Given the description of an element on the screen output the (x, y) to click on. 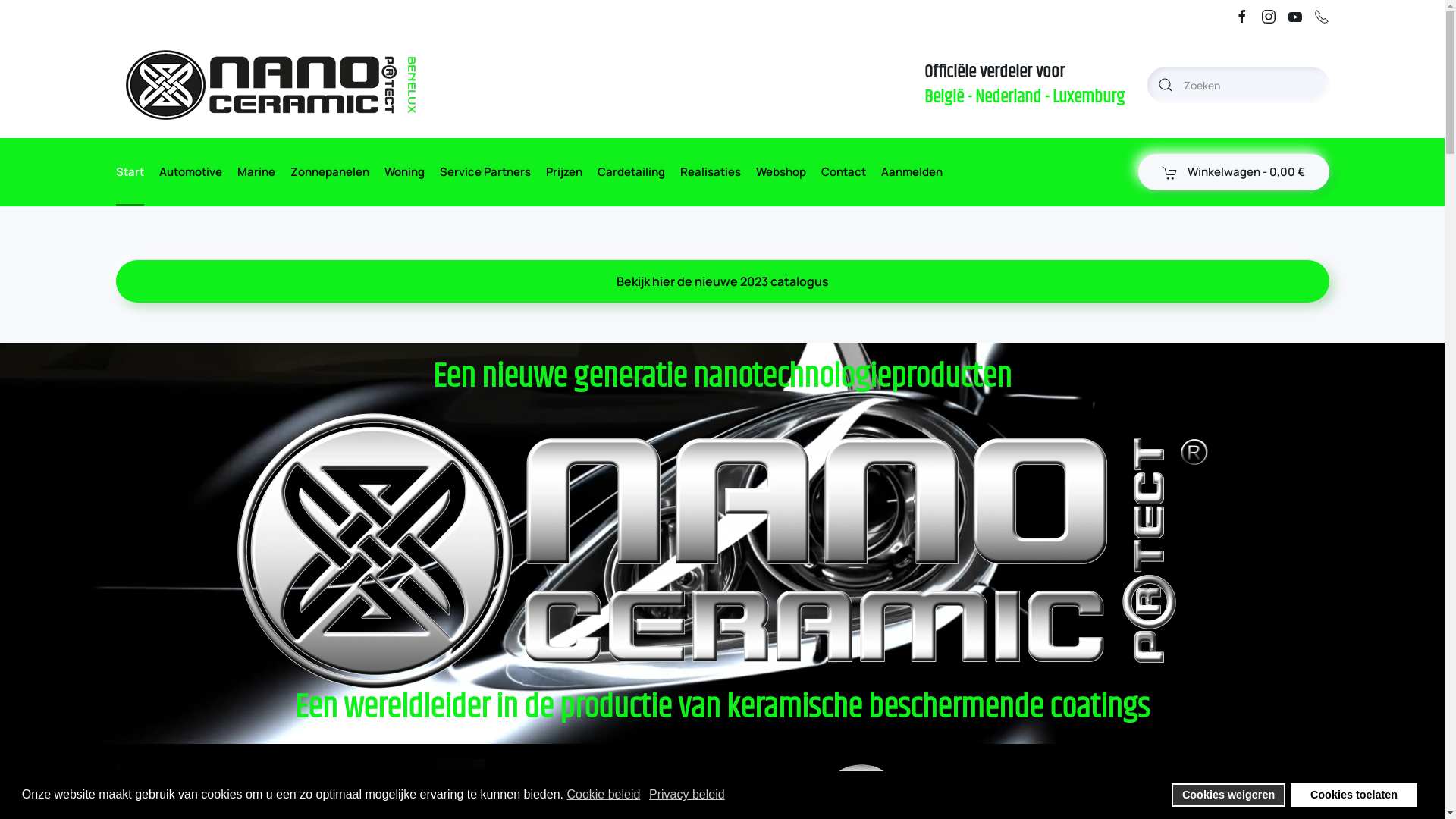
Start Element type: text (128, 172)
Aanmelden Element type: text (911, 172)
Webshop Element type: text (779, 172)
Cookies weigeren Element type: text (1227, 794)
Zonnepanelen Element type: text (329, 172)
Prijzen Element type: text (563, 172)
Automotive Element type: text (190, 172)
Cookies toelaten Element type: text (1353, 794)
Woning Element type: text (403, 172)
Service Partners Element type: text (485, 172)
Marine Element type: text (255, 172)
Privacy beleid Element type: text (688, 794)
Cookie beleid Element type: text (604, 794)
Cardetailing Element type: text (630, 172)
Bekijk hier de nieuwe 2023 catalogus Element type: text (721, 281)
Contact Element type: text (842, 172)
Realisaties Element type: text (709, 172)
